Given the description of an element on the screen output the (x, y) to click on. 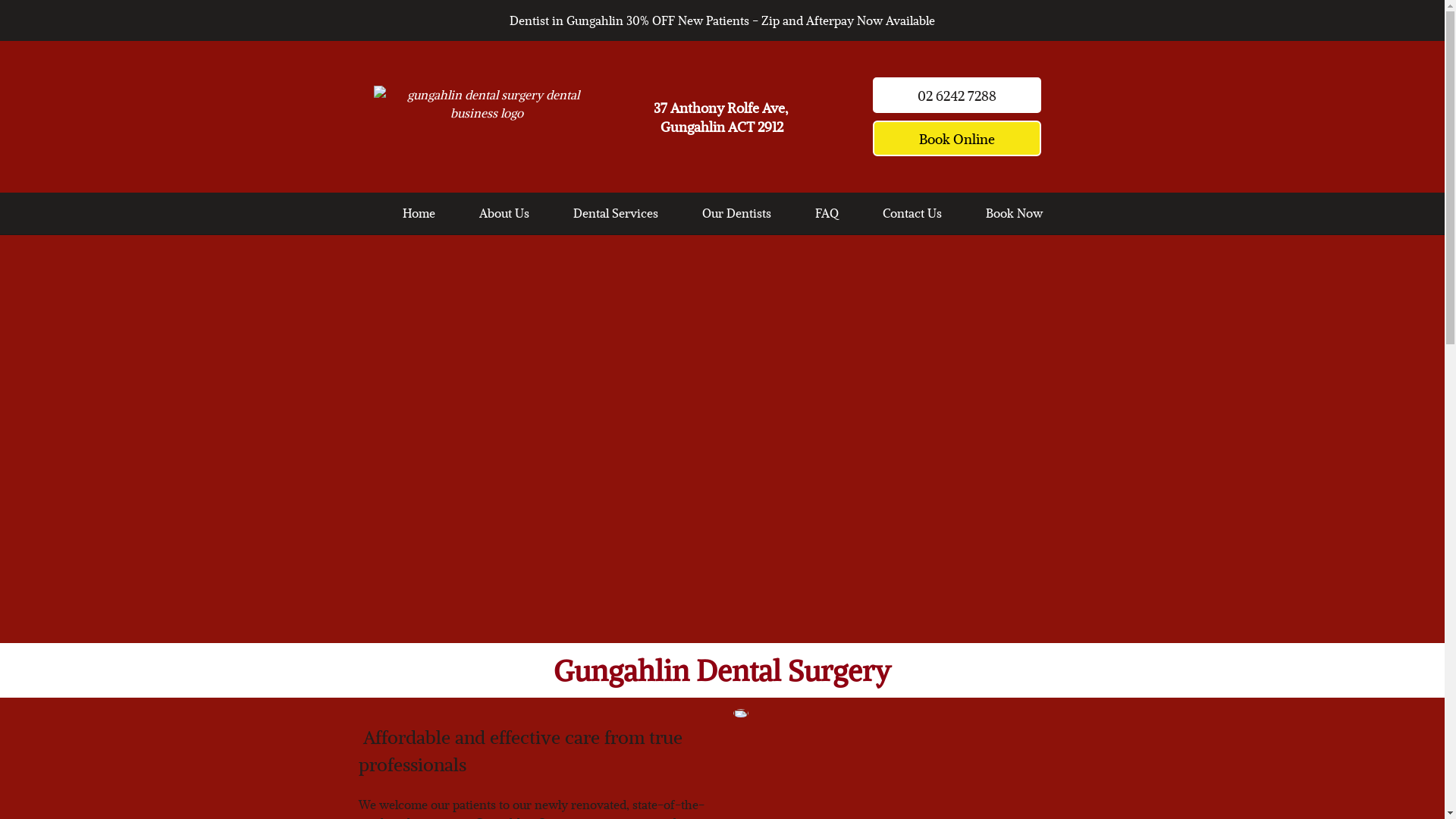
Book Online Element type: text (956, 138)
About Us Element type: text (503, 212)
dental business logo Element type: hover (486, 117)
Home Element type: text (418, 212)
FAQ Element type: text (825, 212)
Contact Us Element type: text (912, 212)
02 6242 7288 Element type: text (956, 94)
Dental Services Element type: text (615, 212)
Our Dentists Element type: text (736, 212)
Book Now Element type: text (1014, 212)
